Given the description of an element on the screen output the (x, y) to click on. 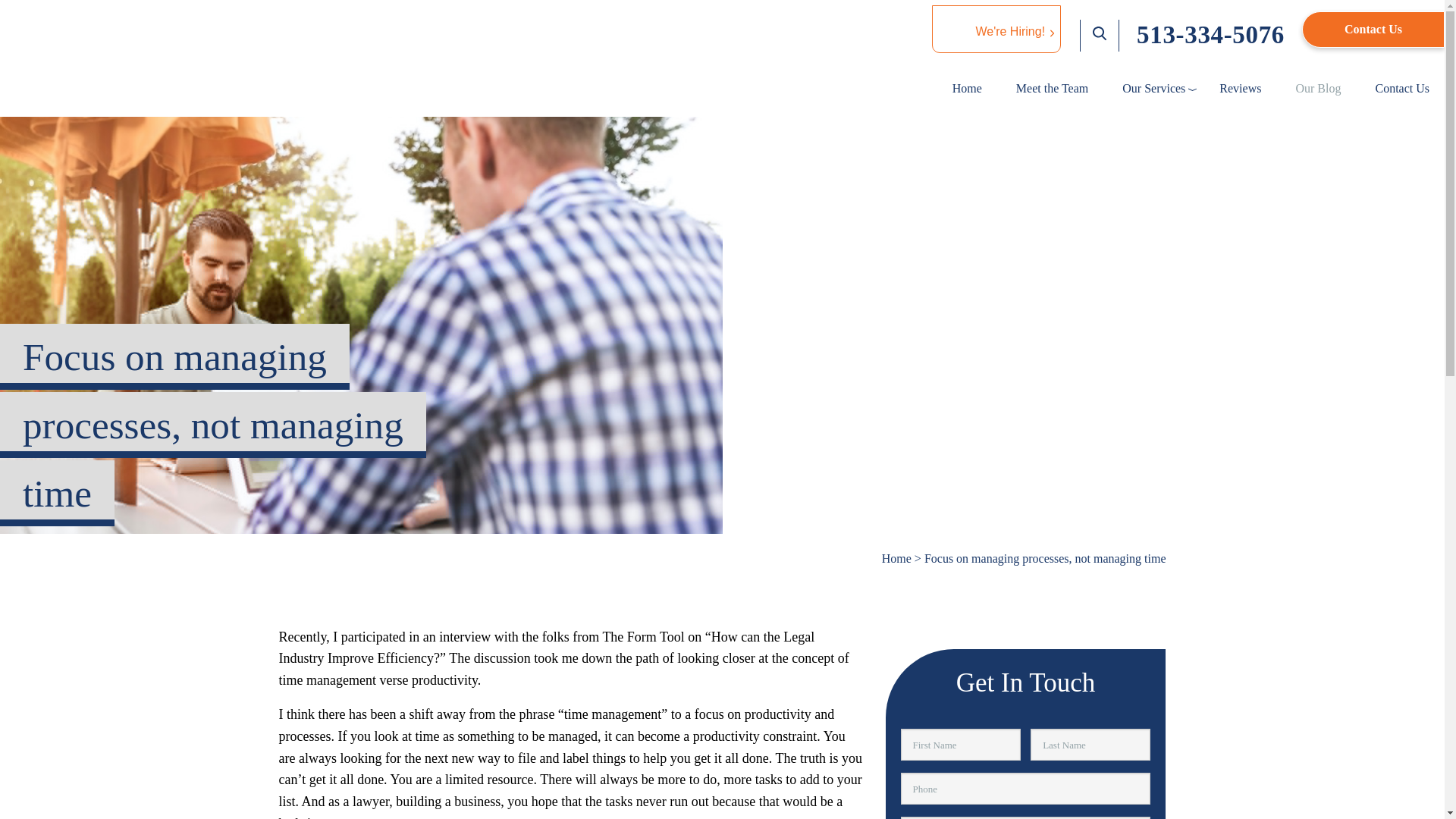
Home (896, 558)
Meet the Team (1050, 88)
Home (965, 88)
Our Blog (1315, 88)
Reviews (1237, 88)
Our Services (1151, 88)
We're Hiring! (996, 28)
513-334-5076 (1210, 34)
